Given the description of an element on the screen output the (x, y) to click on. 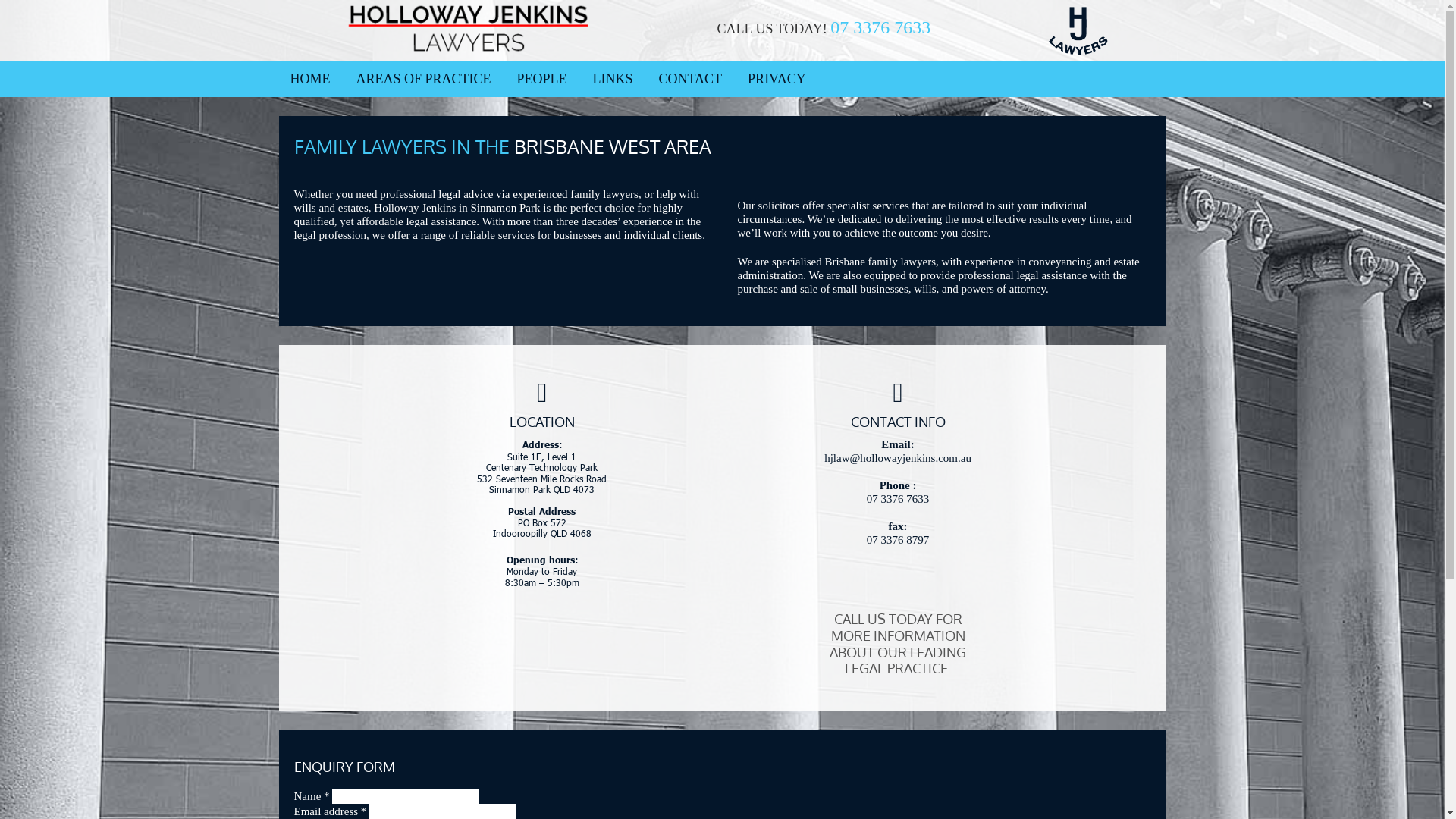
HOME Element type: text (309, 78)
07 3376 8797 Element type: text (897, 539)
PRIVACY Element type: text (776, 78)
LINKS Element type: text (613, 78)
07 3376 7633 Element type: text (897, 498)
hjlaw@hollowayjenkins.com.au Element type: text (897, 457)
PEOPLE Element type: text (542, 78)
CONTACT Element type: text (690, 78)
AREAS OF PRACTICE Element type: text (423, 78)
07 3376 7633 Element type: text (880, 27)
Holloway Jenkins Lawyers jindalee Element type: hover (1077, 30)
